Given the description of an element on the screen output the (x, y) to click on. 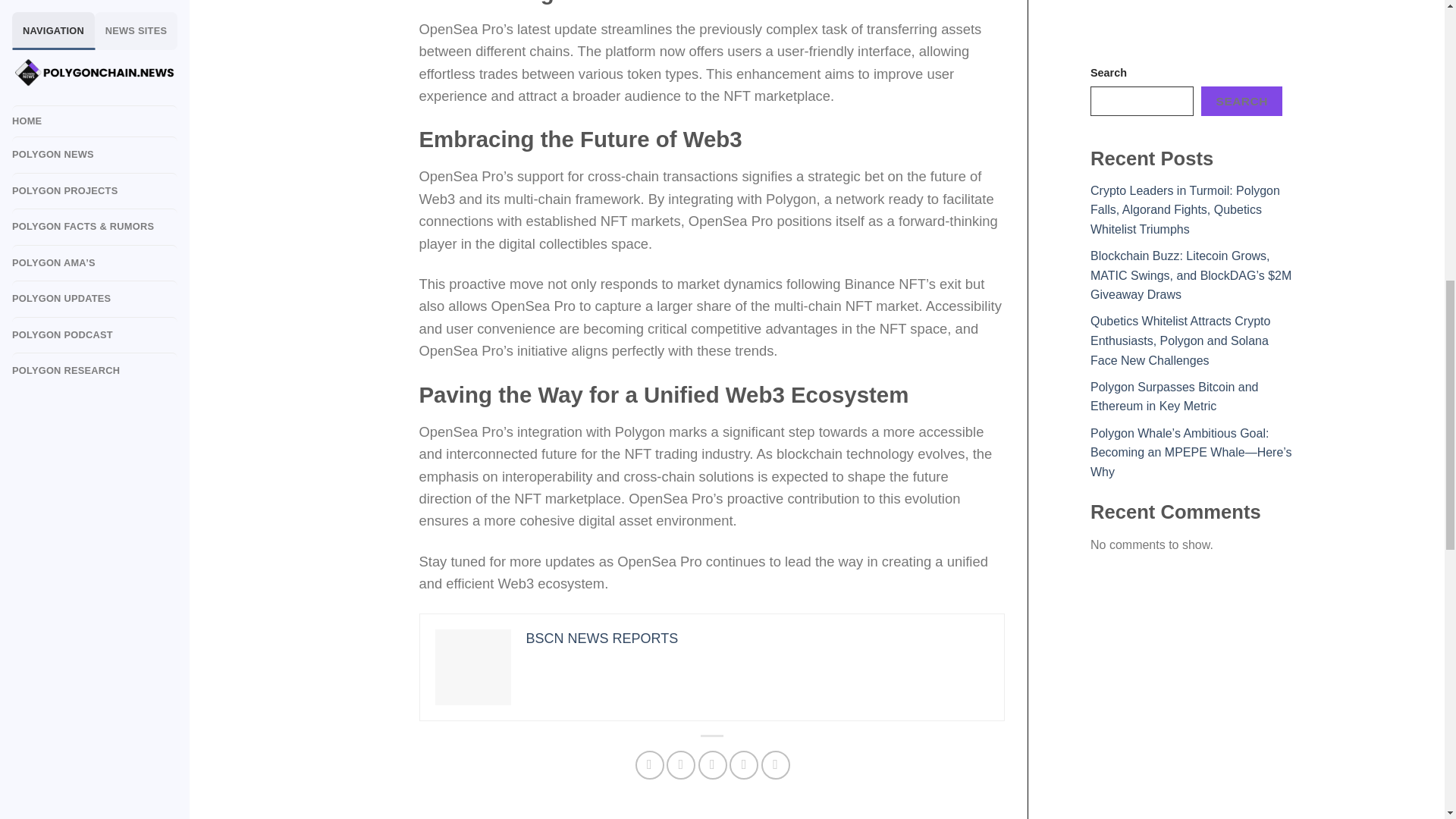
Pin on Pinterest (743, 765)
Share on LinkedIn (775, 765)
BSCN NEWS REPORTS (601, 638)
Email to a Friend (712, 765)
Share on Facebook (648, 765)
Share on Twitter (680, 765)
